Given the description of an element on the screen output the (x, y) to click on. 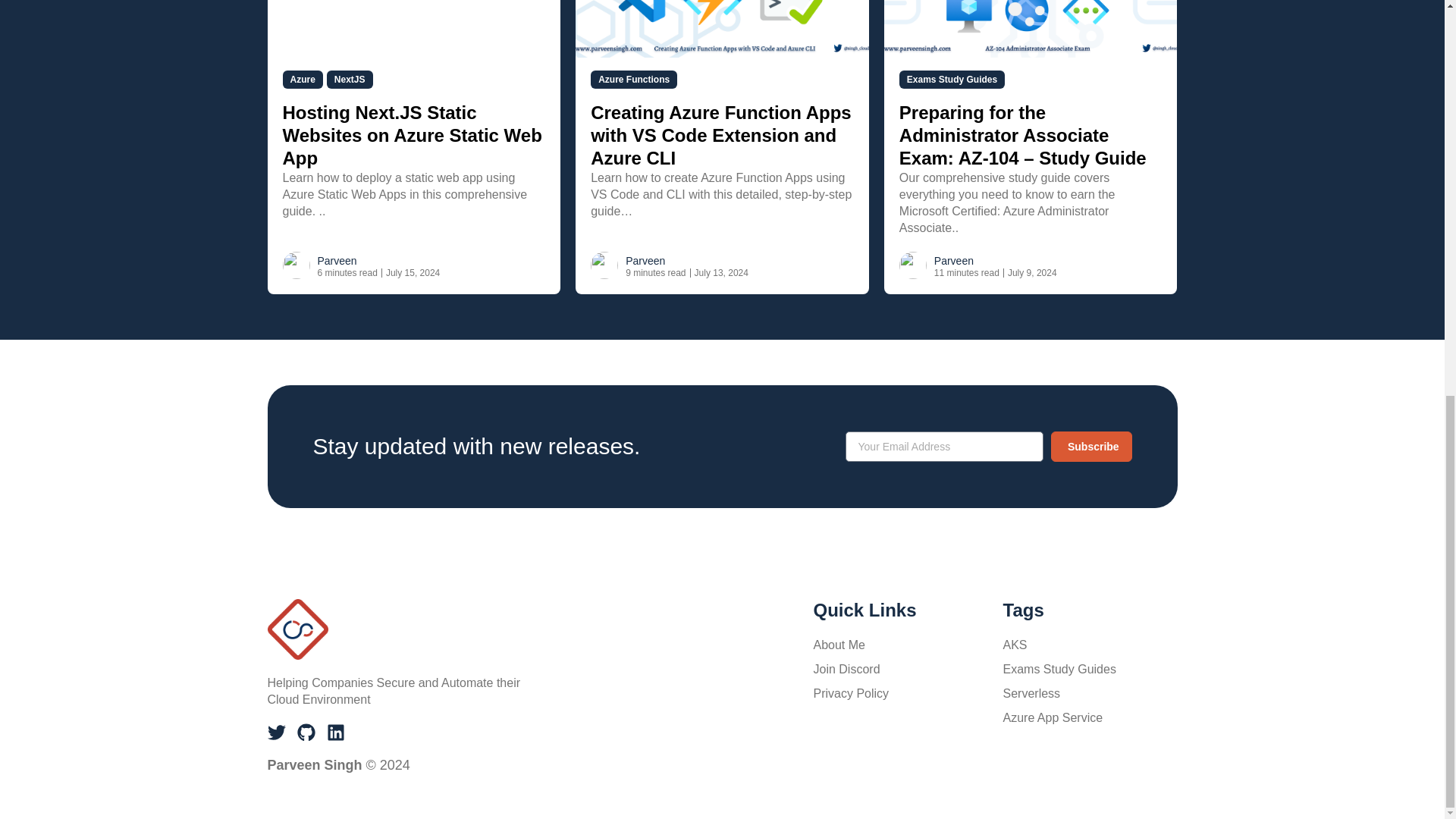
NextJS (349, 79)
Azure Functions (634, 79)
Exams Study Guides (951, 79)
Azure (301, 79)
